Given the description of an element on the screen output the (x, y) to click on. 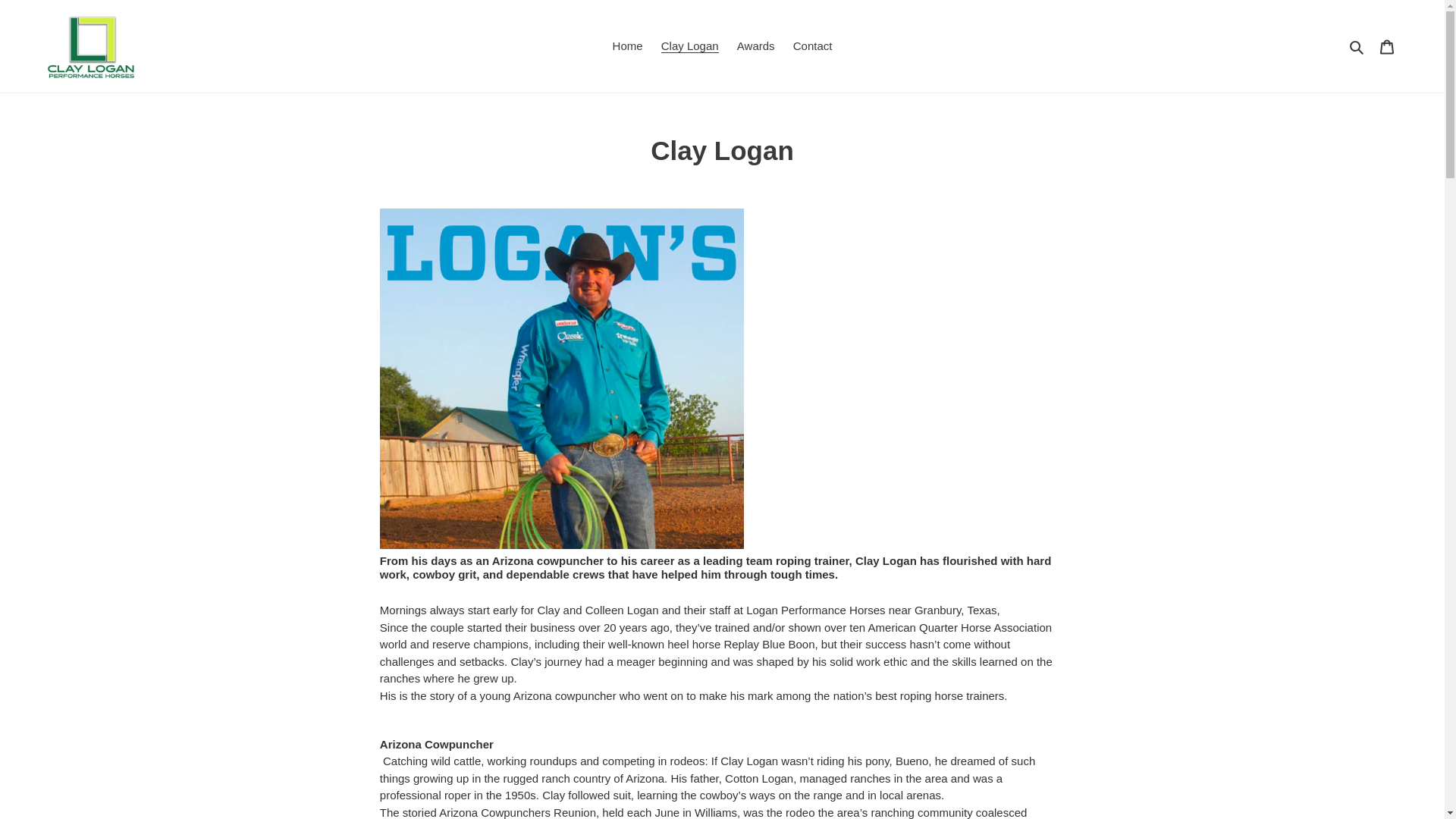
Search (1357, 46)
Home (627, 46)
Contact (813, 46)
Clay Logan (689, 46)
Cart (1387, 46)
Awards (756, 46)
